Given the description of an element on the screen output the (x, y) to click on. 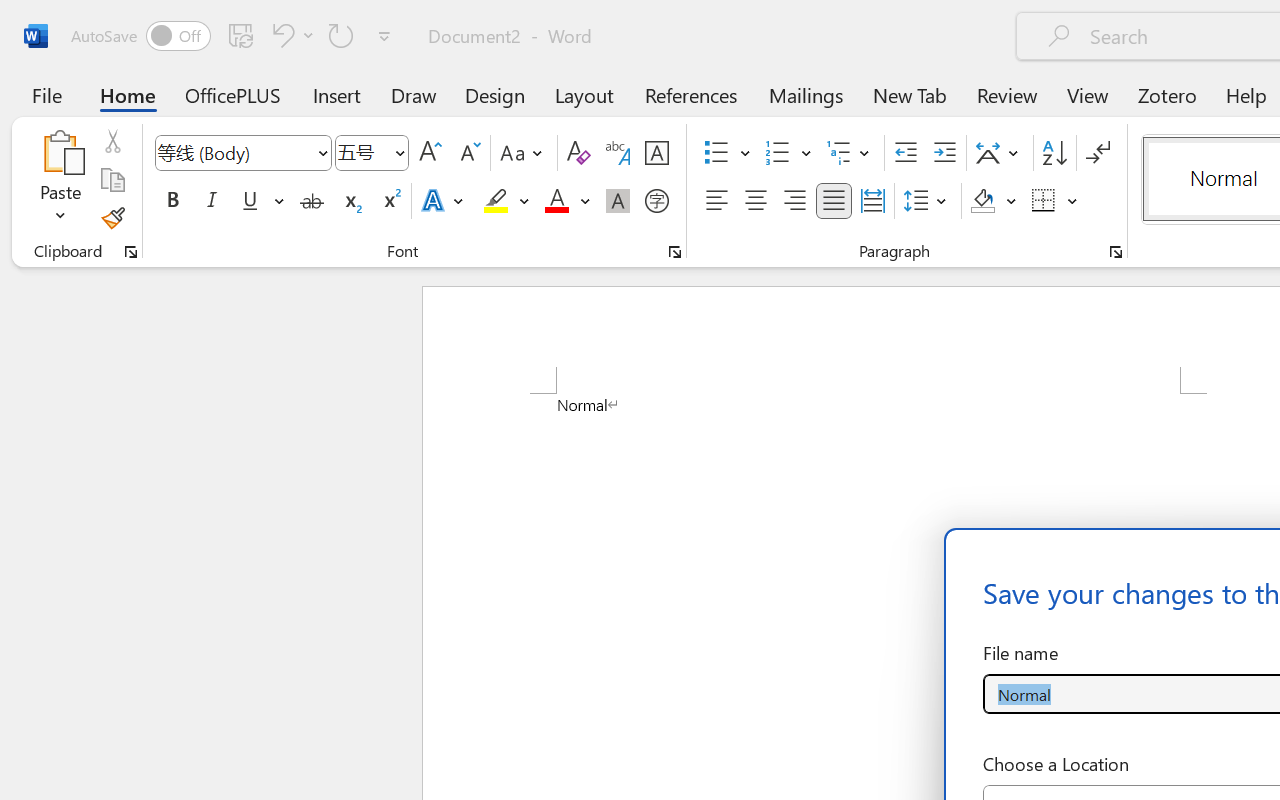
Font (234, 152)
Numbering (788, 153)
Underline (250, 201)
Open (399, 152)
Phonetic Guide... (618, 153)
Bullets (716, 153)
Font... (675, 252)
Clear Formatting (578, 153)
Align Right (794, 201)
Font Color (567, 201)
Line and Paragraph Spacing (927, 201)
AutoSave (140, 35)
Increase Indent (944, 153)
Undo Apply Quick Style (280, 35)
Shading RGB(0, 0, 0) (982, 201)
